Given the description of an element on the screen output the (x, y) to click on. 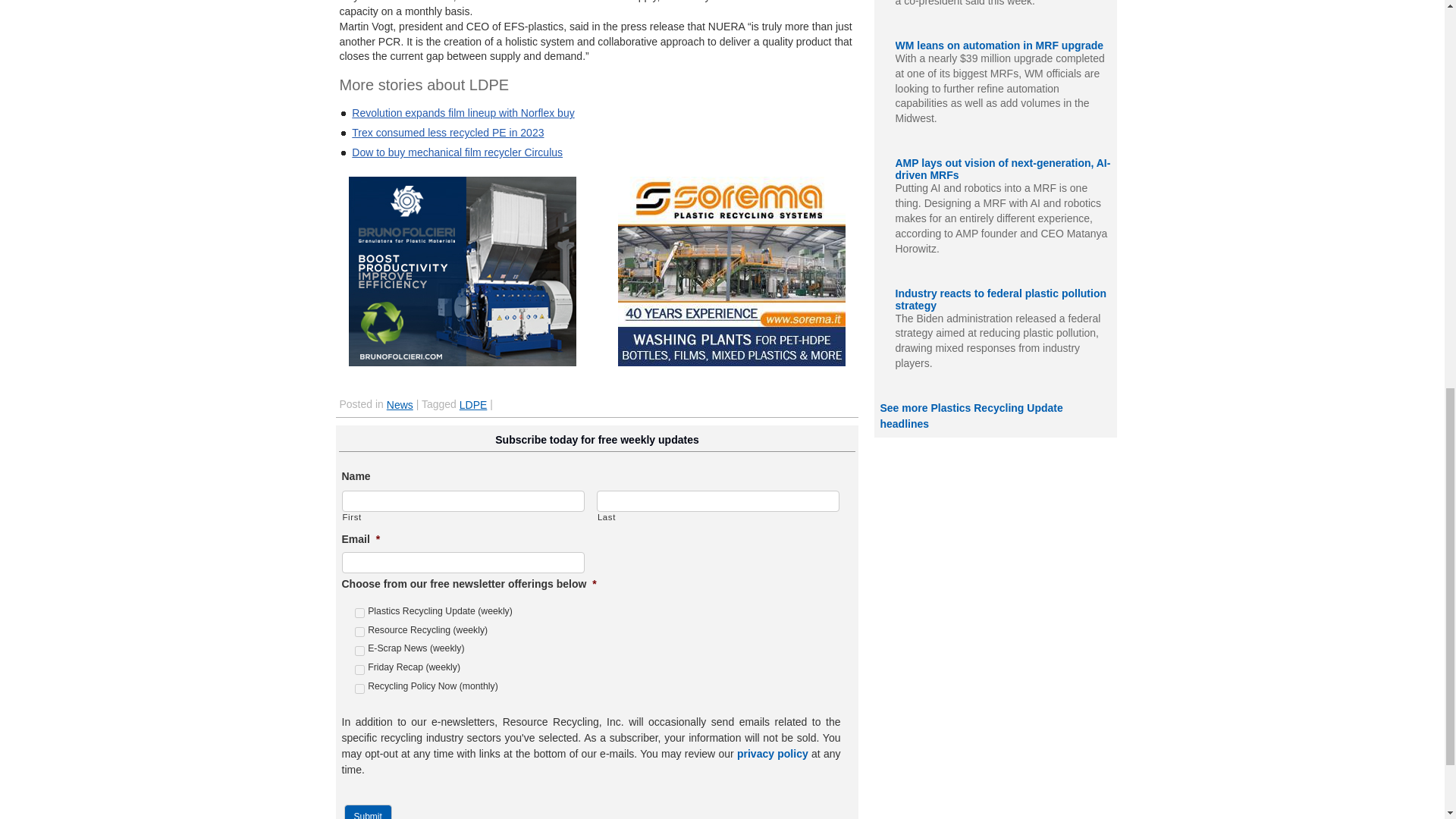
Submit (367, 811)
